Given the description of an element on the screen output the (x, y) to click on. 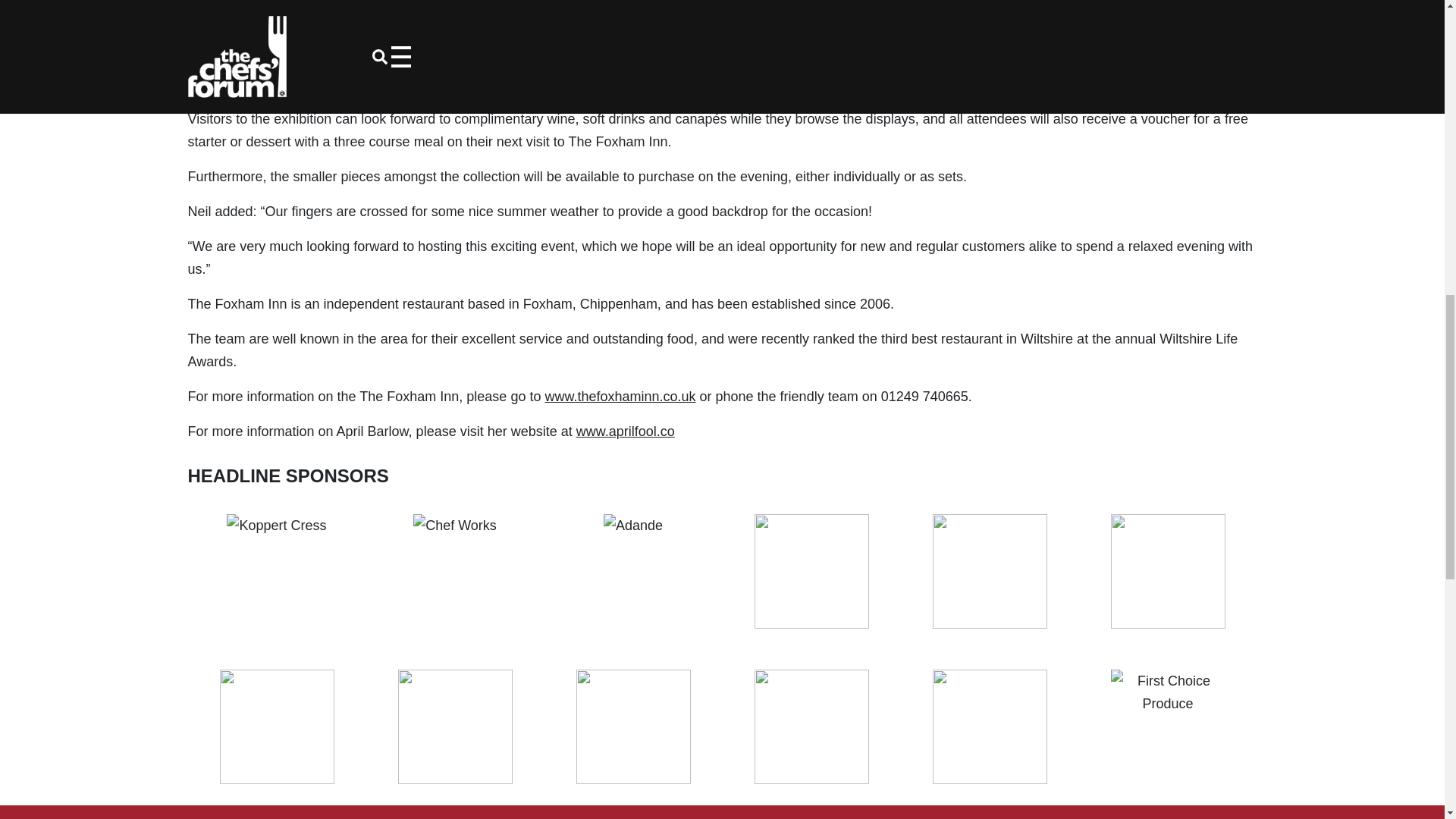
www.thefoxhaminn.co.uk (619, 396)
www.aprilfool.co (625, 431)
